Given the description of an element on the screen output the (x, y) to click on. 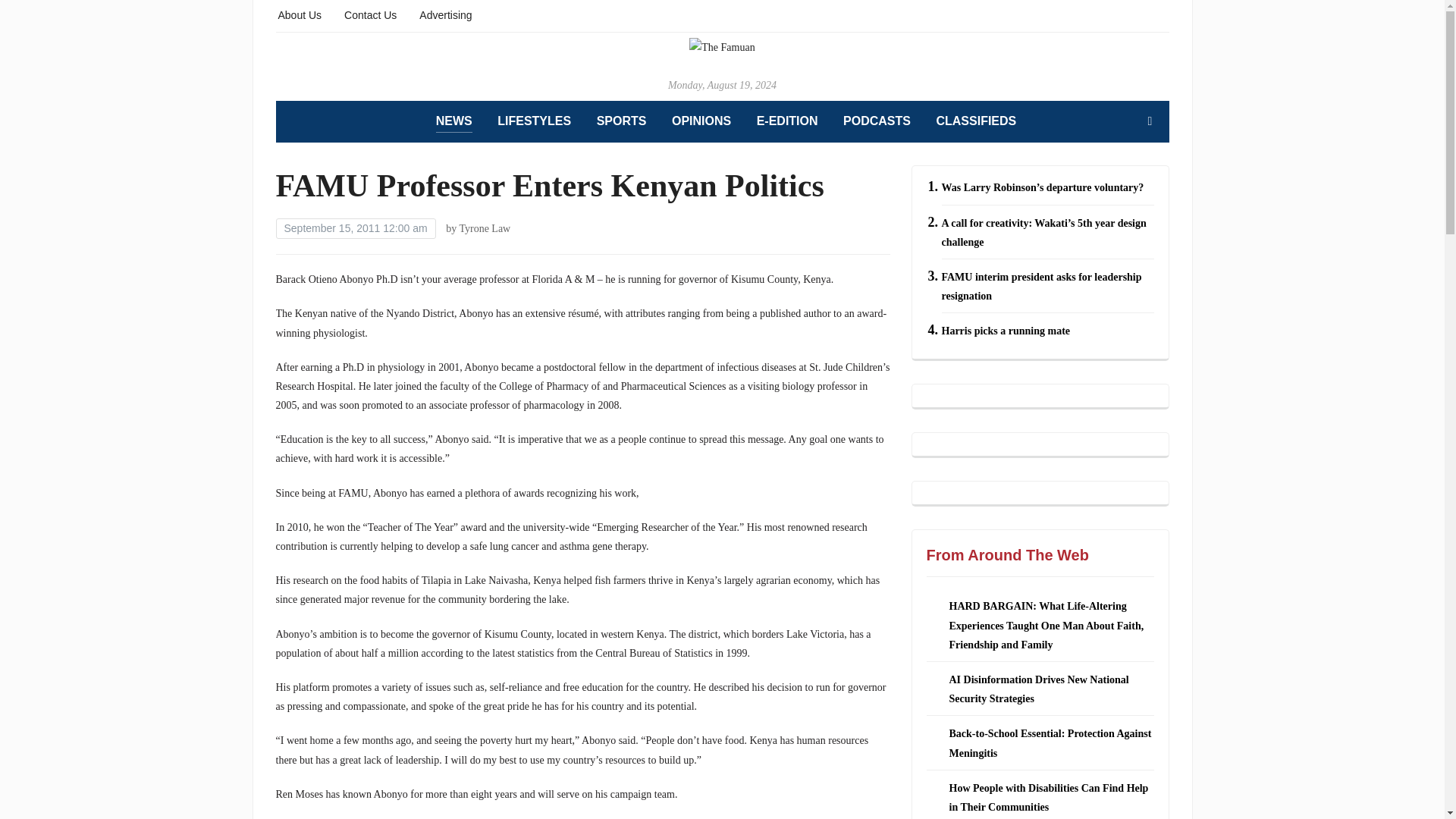
AI Disinformation Drives New National Security Strategies (1039, 689)
AI Disinformation Drives New National Security Strategies (1039, 689)
About Us (299, 14)
CLASSIFIEDS (976, 121)
Back-to-School Essential: Protection Against Meningitis (1050, 743)
Search (1149, 121)
Permanent Link to Harris picks a running mate (1006, 330)
Contact Us (369, 14)
